Given the description of an element on the screen output the (x, y) to click on. 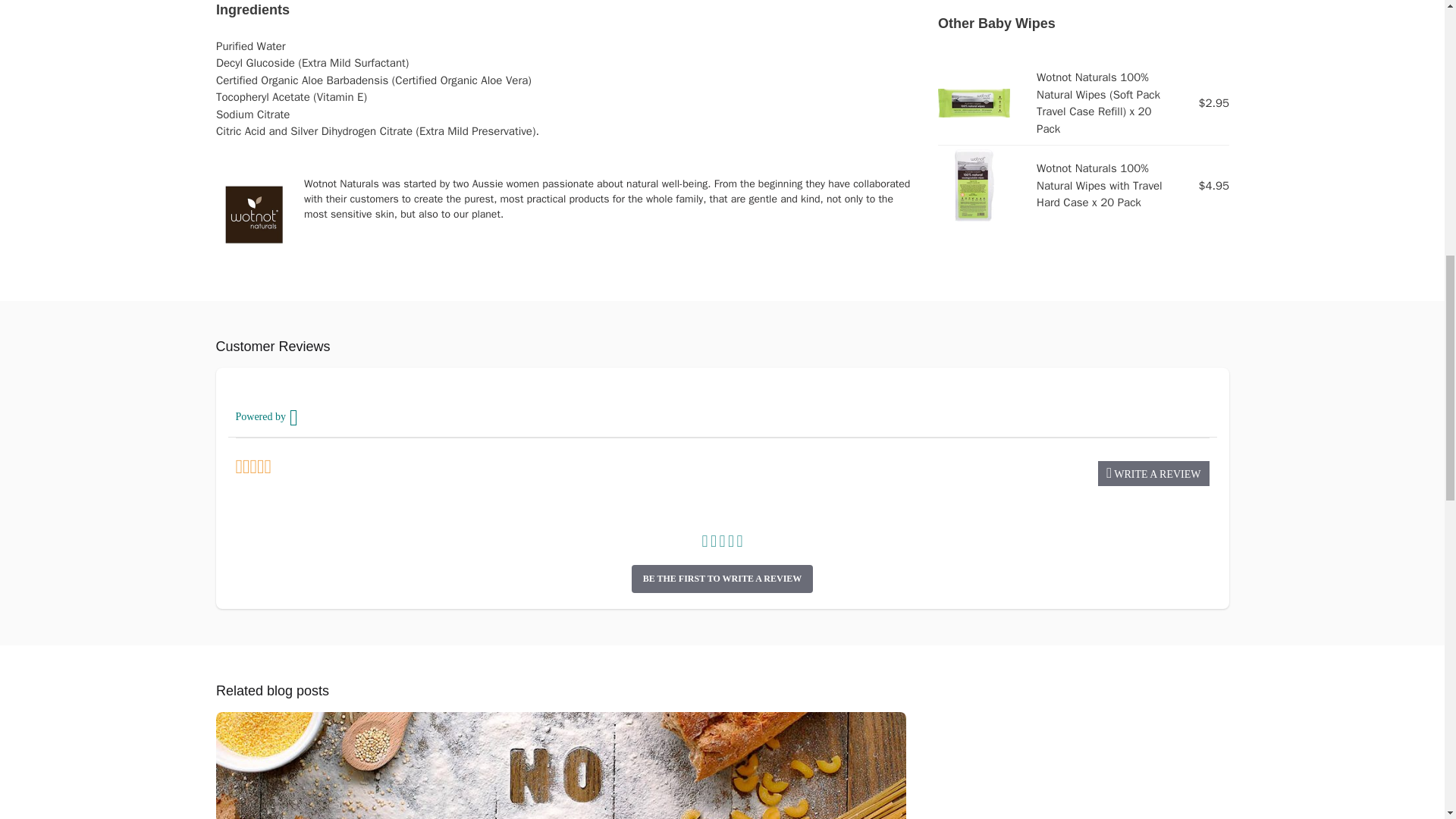
Wotnot (253, 214)
